Given the description of an element on the screen output the (x, y) to click on. 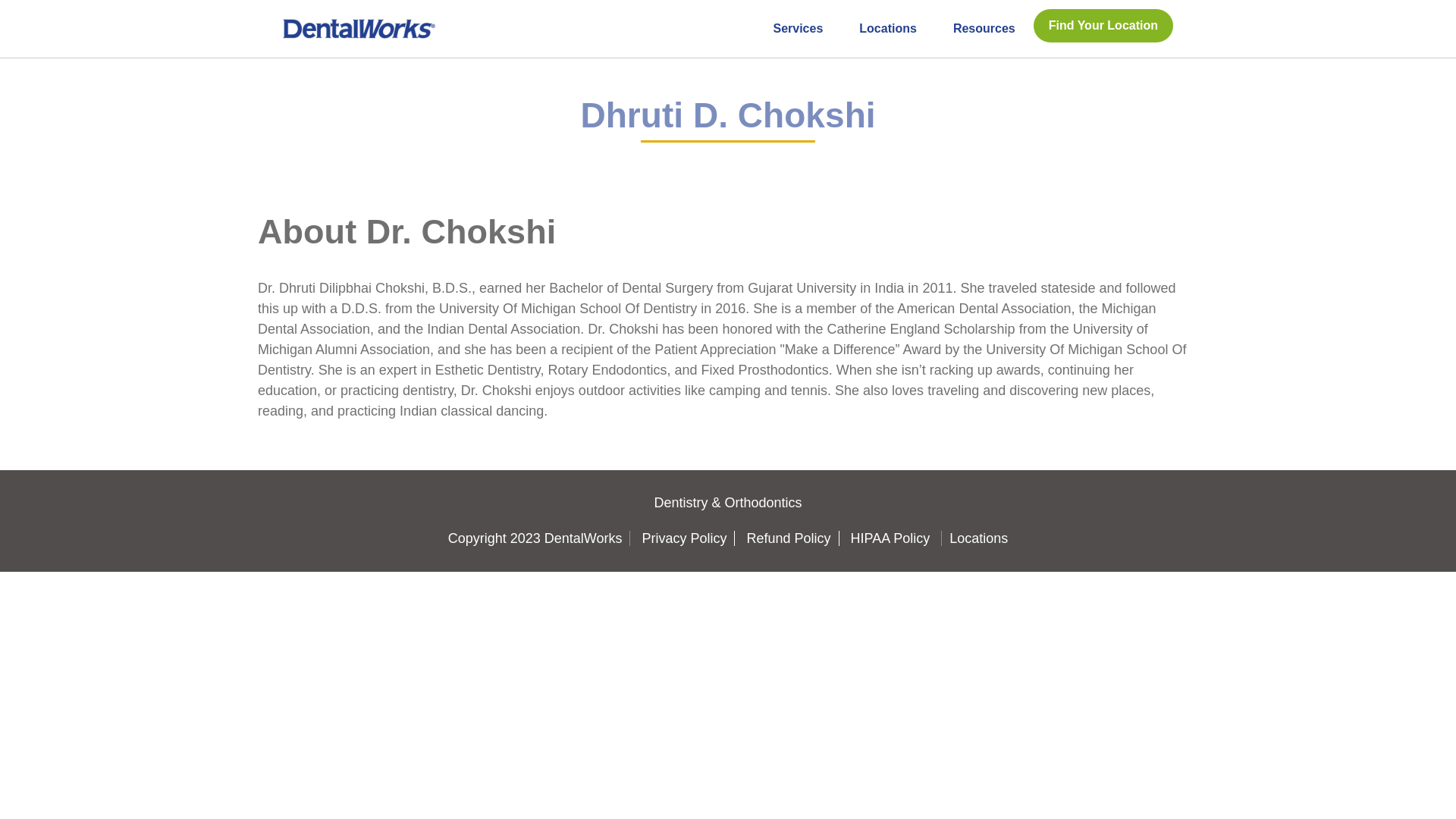
Services (797, 27)
